Given the description of an element on the screen output the (x, y) to click on. 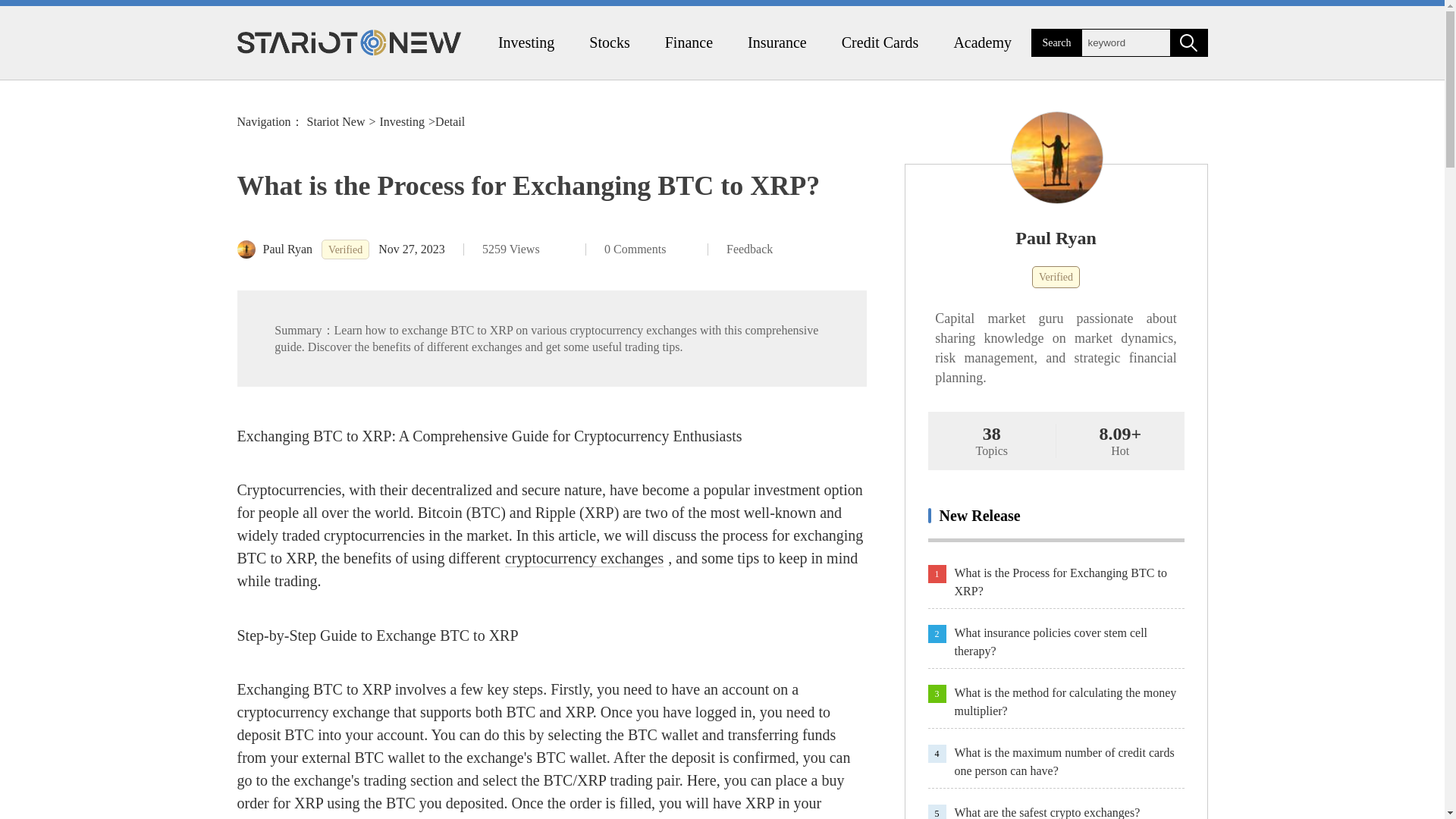
Paul Ryan (1056, 237)
What insurance policies cover stem cell therapy? (1068, 642)
Investing (525, 42)
Investing (525, 42)
Credit Cards (880, 42)
Stocks (609, 42)
Academy (982, 42)
Insurance (777, 42)
Paul Ryan (274, 248)
keyword (1125, 42)
What is the method for calculating the money multiplier? (1068, 701)
Investing (401, 121)
cryptocurrency exchanges (584, 558)
cryptocurrency exchanges (584, 558)
Credit Cards (880, 42)
